Given the description of an element on the screen output the (x, y) to click on. 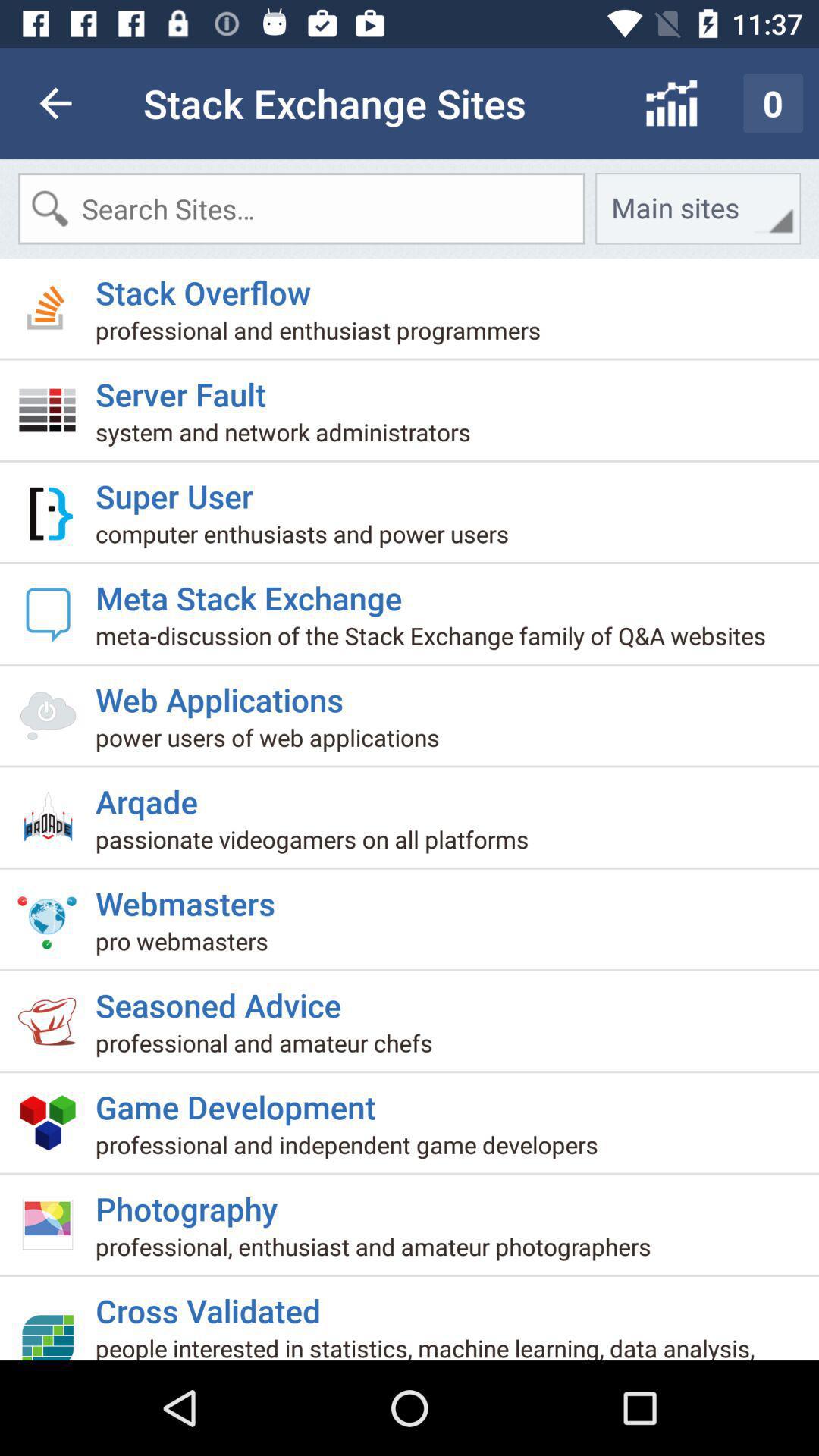
turn off the icon to the left of main sites (301, 208)
